Given the description of an element on the screen output the (x, y) to click on. 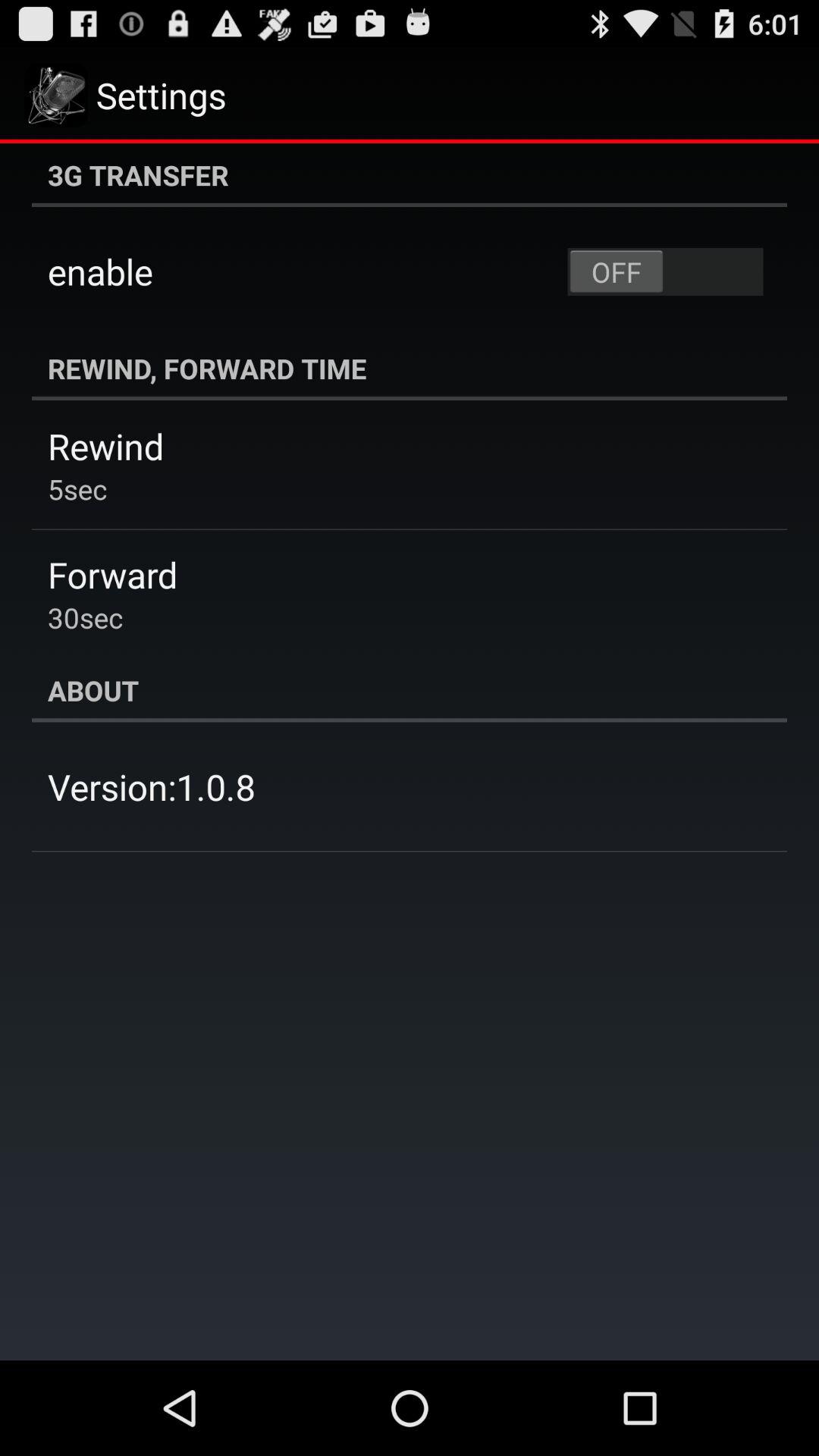
launch rewind, forward time (409, 368)
